Given the description of an element on the screen output the (x, y) to click on. 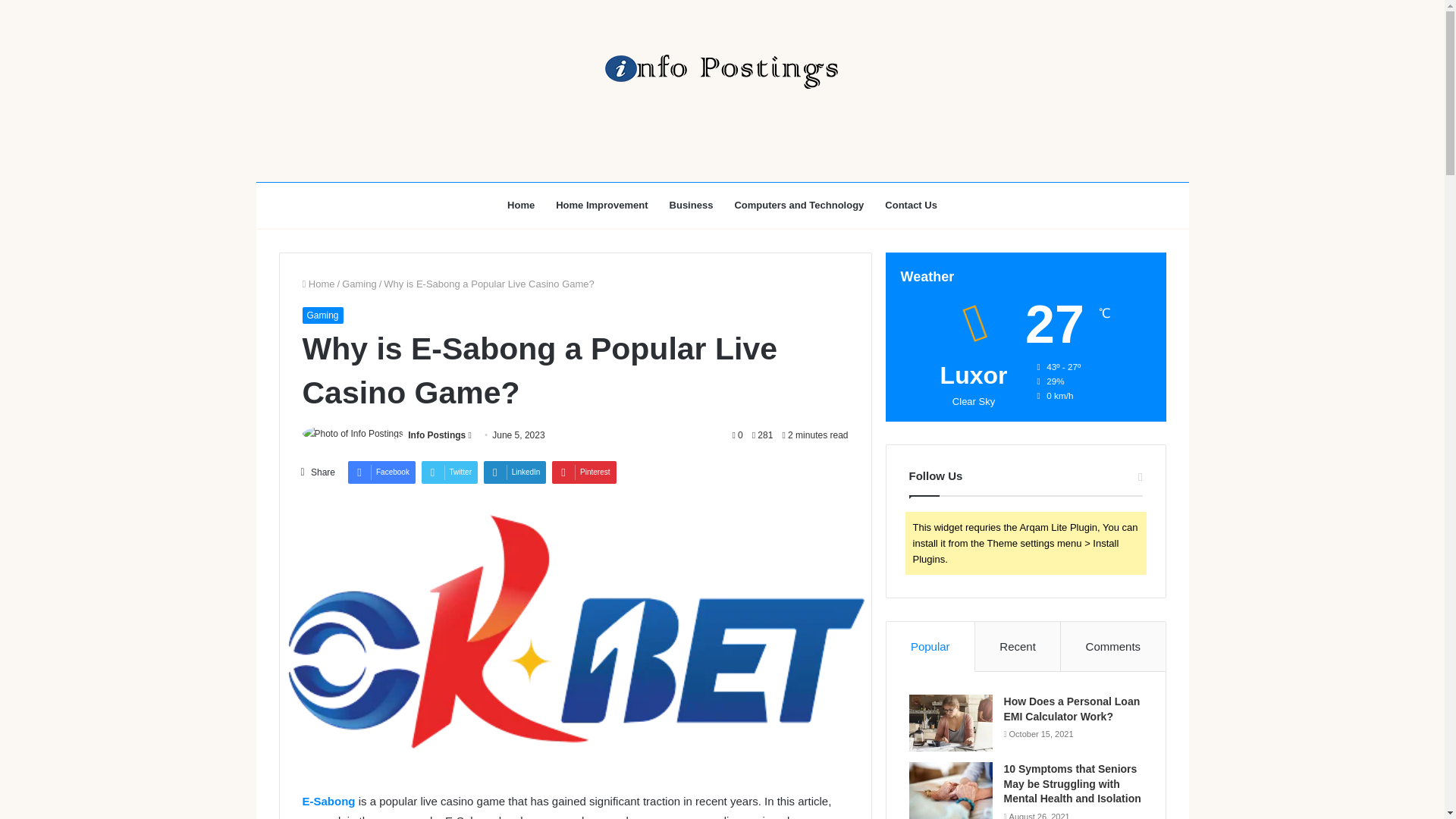
Pinterest (583, 472)
LinkedIn (515, 472)
Business (691, 205)
Computers and Technology (799, 205)
Gaming (359, 283)
Contact Us (911, 205)
Pinterest (583, 472)
Facebook (380, 472)
Home Improvement (601, 205)
Home (520, 205)
Facebook (380, 472)
E-Sabong (328, 800)
Info Postings (721, 71)
Info Postings (436, 434)
Twitter (449, 472)
